Given the description of an element on the screen output the (x, y) to click on. 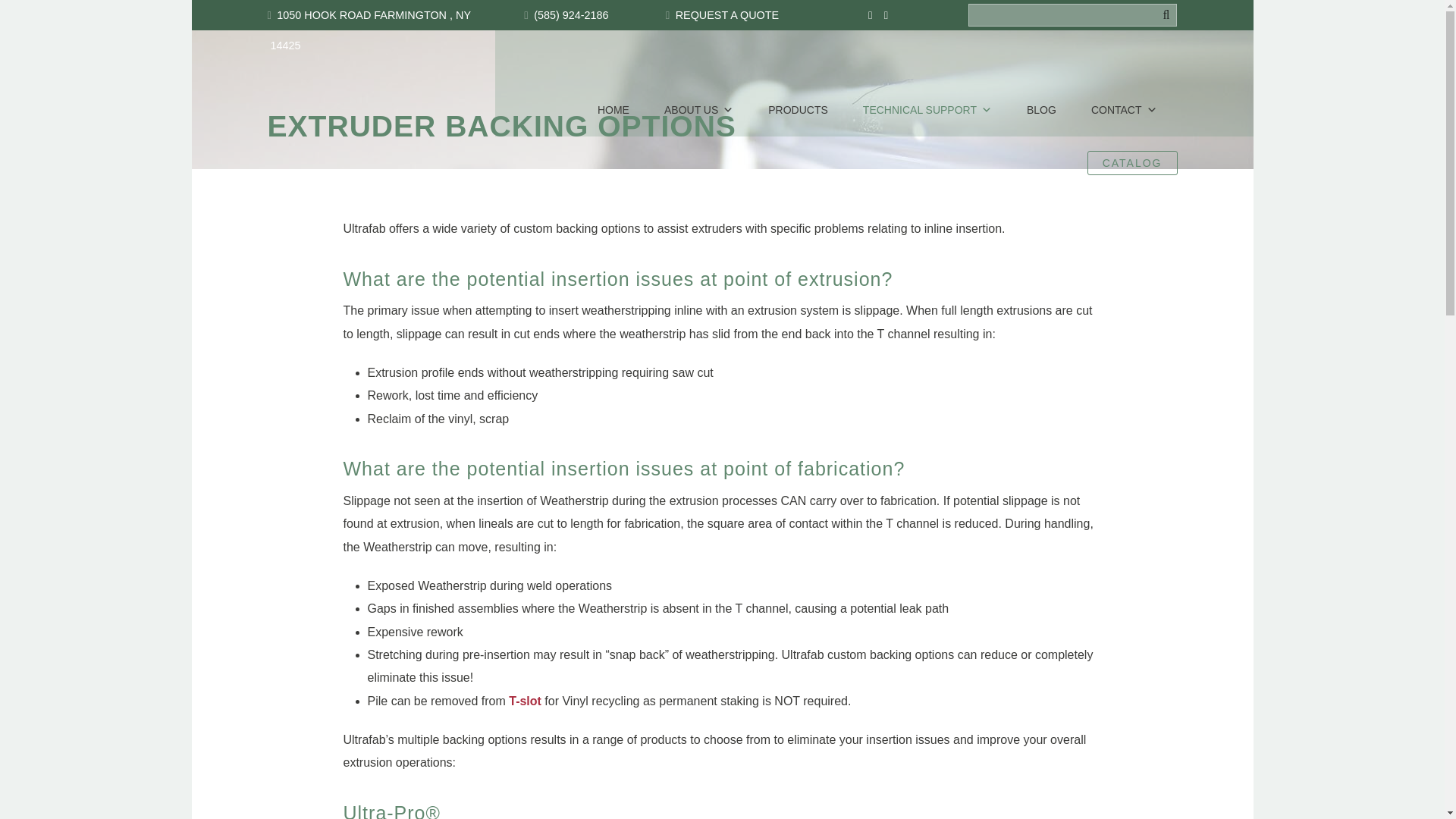
REQUEST A QUOTE (726, 15)
HOME (613, 109)
Search (44, 18)
PRODUCTS (798, 109)
T-slot (524, 700)
ABOUT US (698, 109)
TECHNICAL SUPPORT (927, 109)
